Given the description of an element on the screen output the (x, y) to click on. 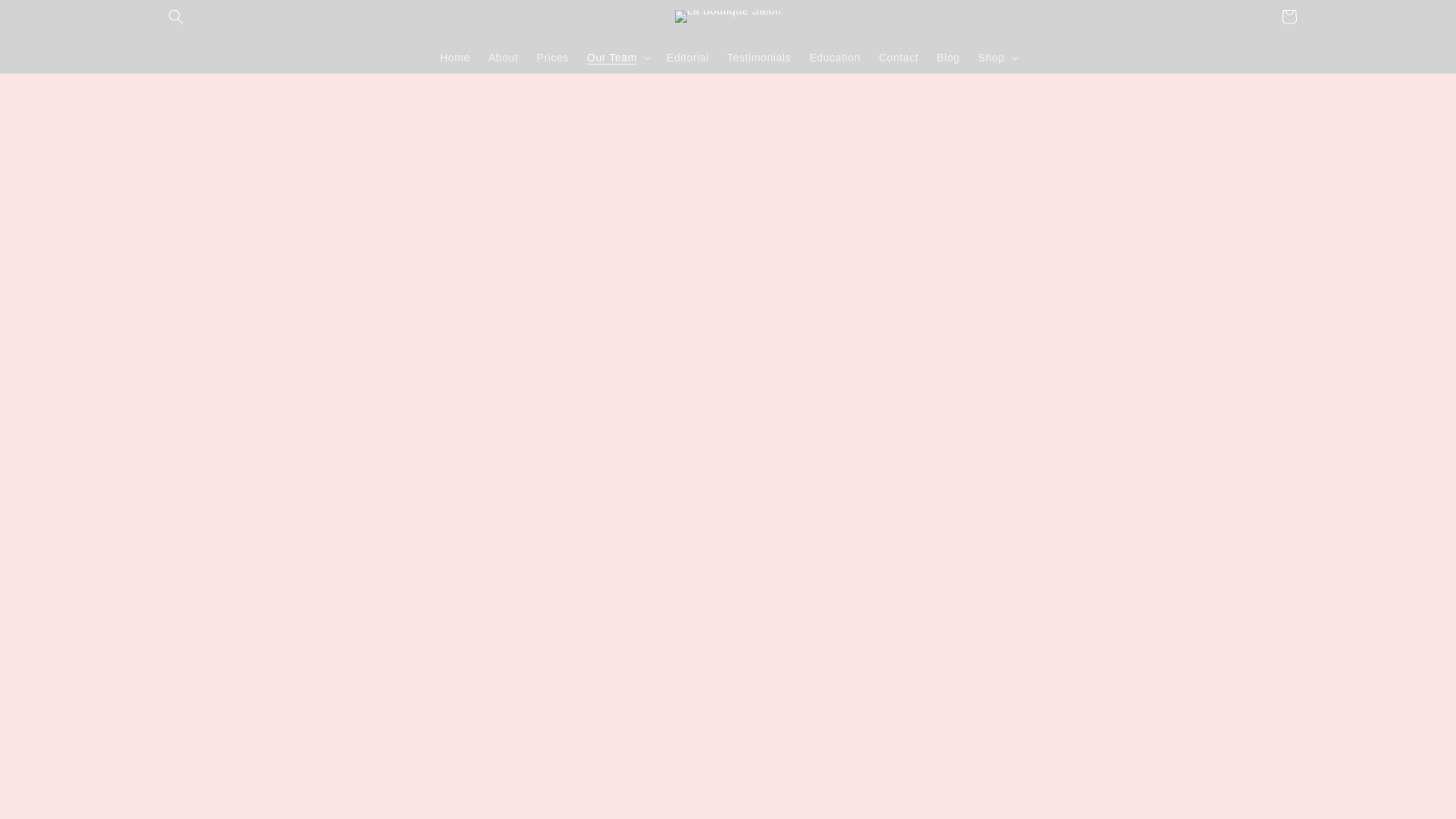
Testimonials (758, 56)
Home (454, 56)
Education (834, 56)
About (503, 56)
Blog (947, 56)
Prices (552, 56)
Skip to content (45, 17)
Contact (898, 56)
Editorial (687, 56)
